Given the description of an element on the screen output the (x, y) to click on. 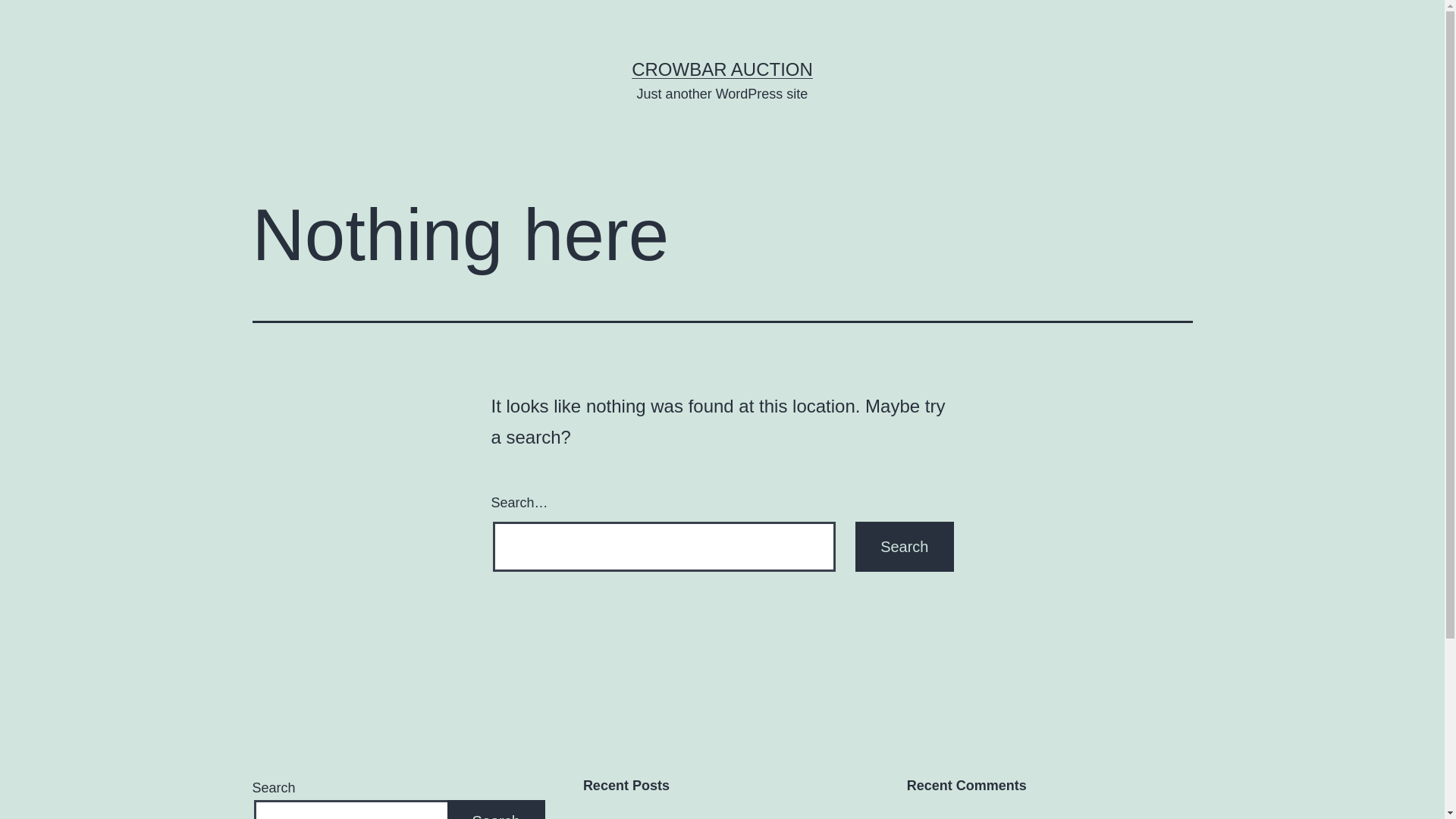
Search Element type: text (904, 546)
CROWBAR AUCTION Element type: text (721, 69)
